Given the description of an element on the screen output the (x, y) to click on. 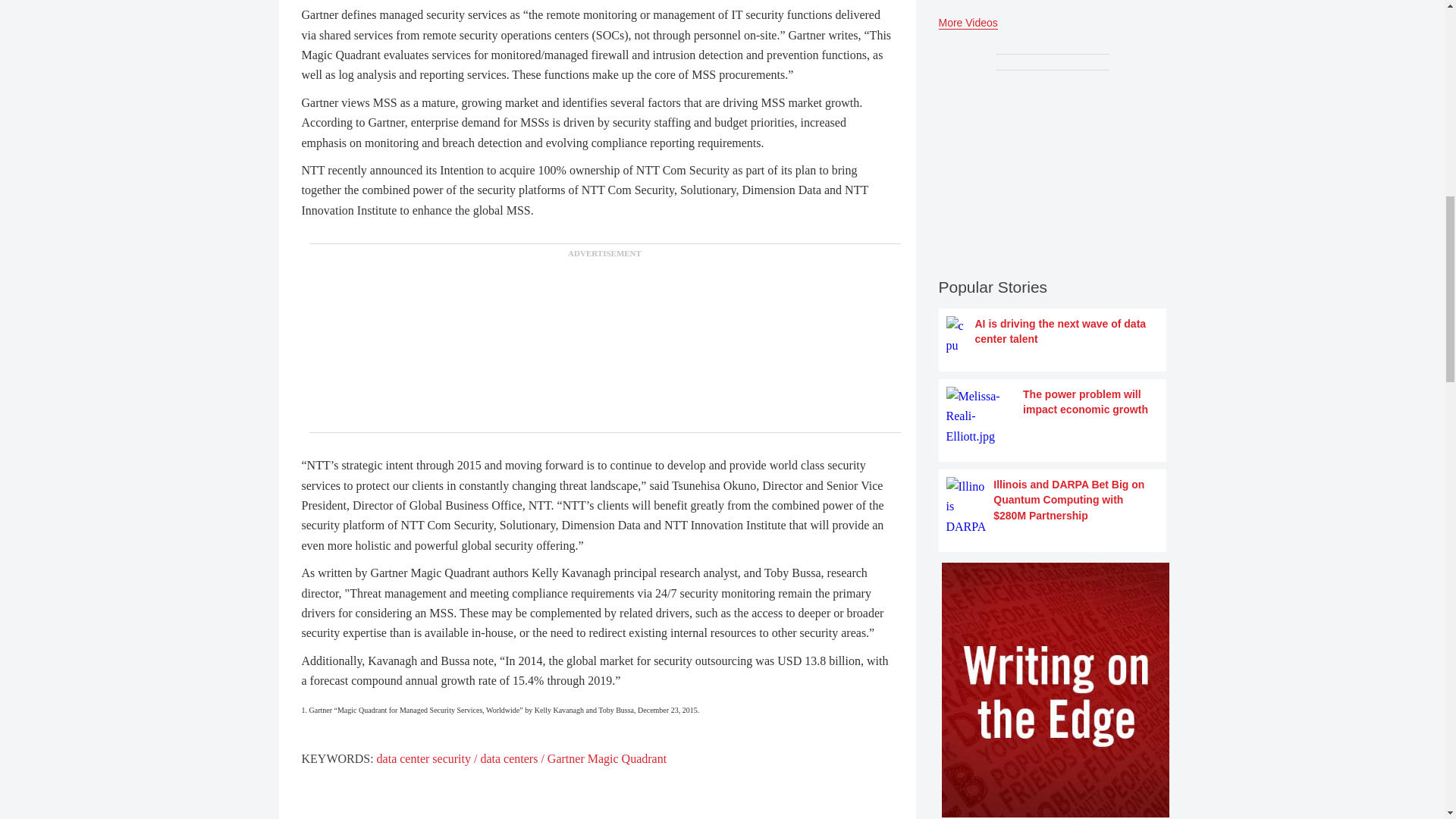
The power problem will impact economic growth (1052, 416)
AI is driving the next wave of data center talent (1052, 336)
